Given the description of an element on the screen output the (x, y) to click on. 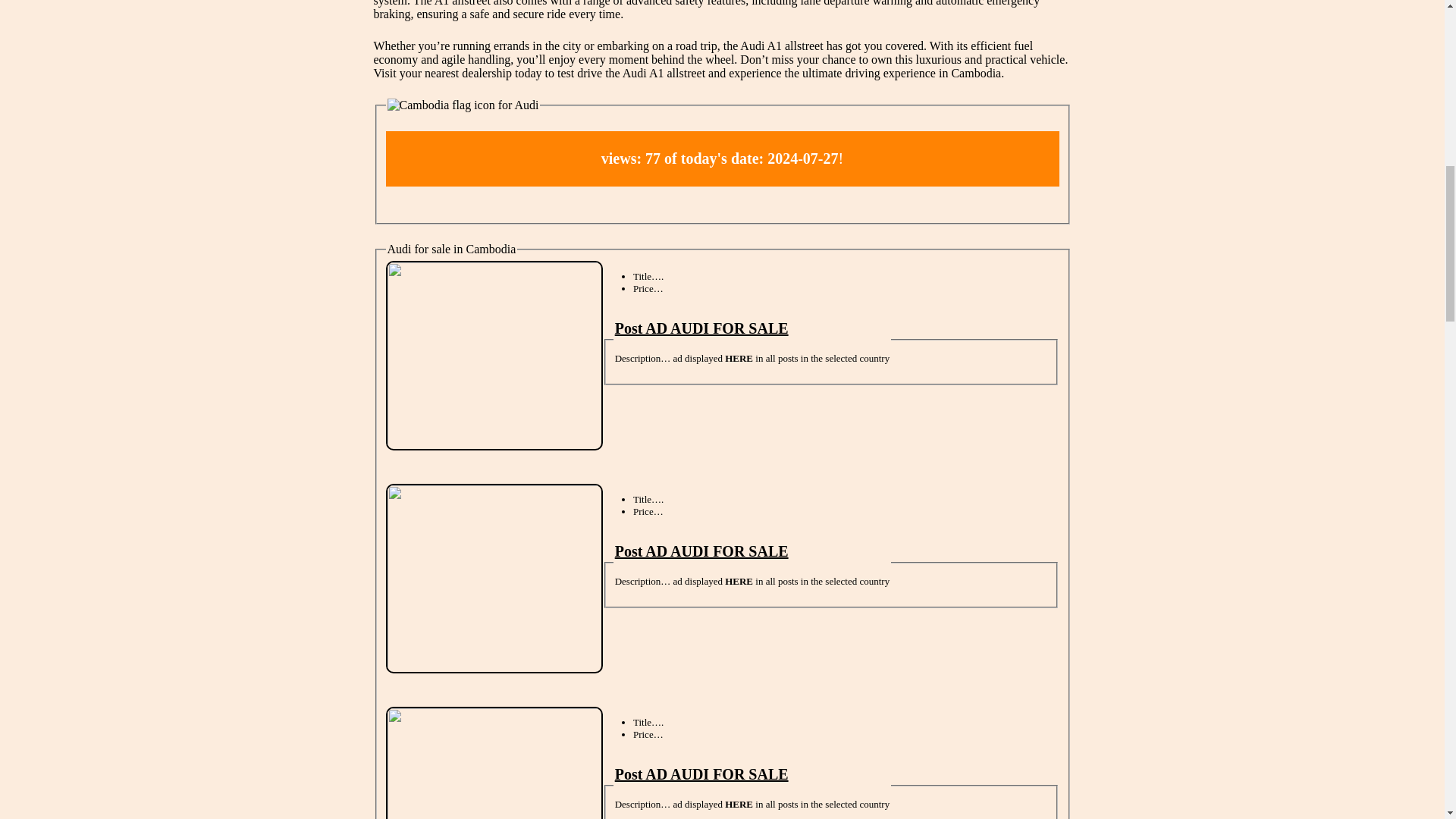
Post AD AUDI FOR SALE (701, 773)
Post AD AUDI FOR SALE (701, 550)
Post AD AUDI FOR SALE (701, 328)
